Given the description of an element on the screen output the (x, y) to click on. 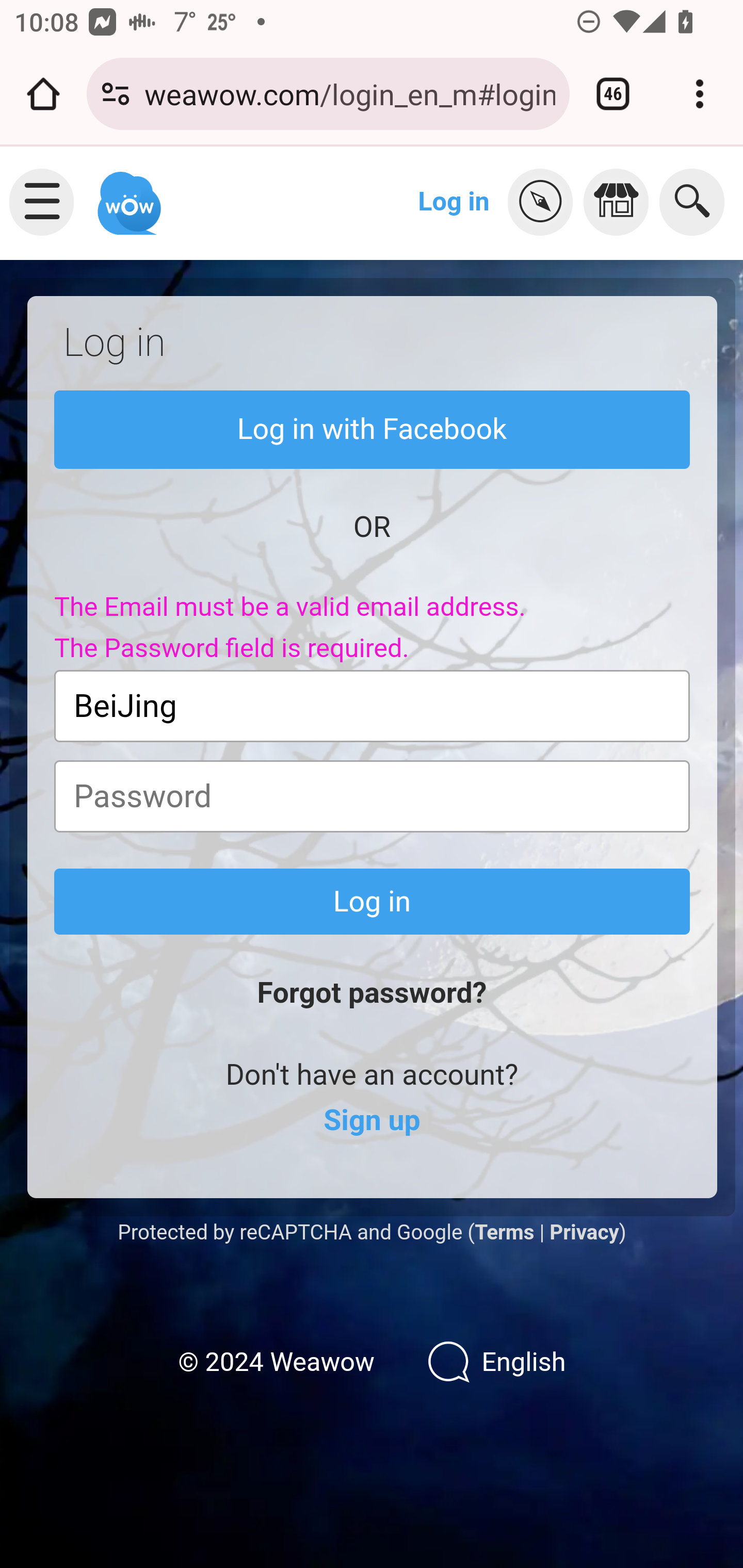
Open the home page (43, 93)
Connection is secure (115, 93)
Switch or close tabs (612, 93)
Customize and control Google Chrome (699, 93)
weawow.com/login_en_m#login (349, 92)
Weawow (127, 194)
 (545, 201)
 (621, 201)
Log in (453, 201)
BeiJing (372, 706)
Log in (372, 902)
Forgot password? (371, 993)
Sign up (371, 1120)
Terms (503, 1231)
Privacy (583, 1231)
© 2024 Weawow (275, 1362)
